Given the description of an element on the screen output the (x, y) to click on. 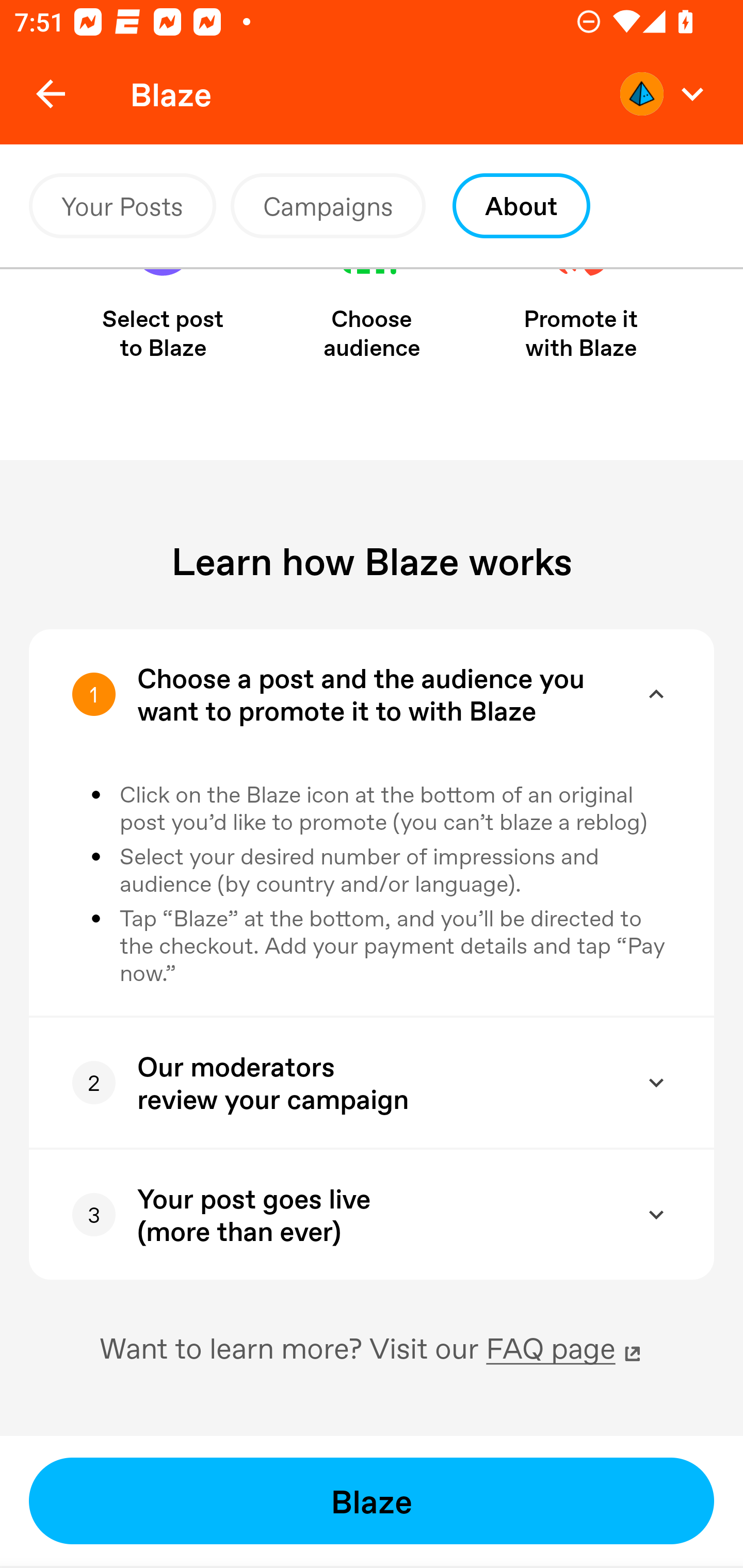
Back (50, 93)
Your Posts (122, 206)
Campaigns (328, 206)
Collapse (655, 693)
2 Our moderators
review your campaign (342, 1082)
Expand (655, 1082)
3 Your post goes live
(more than ever) (342, 1214)
Expand (655, 1214)
Blaze (371, 1501)
